Given the description of an element on the screen output the (x, y) to click on. 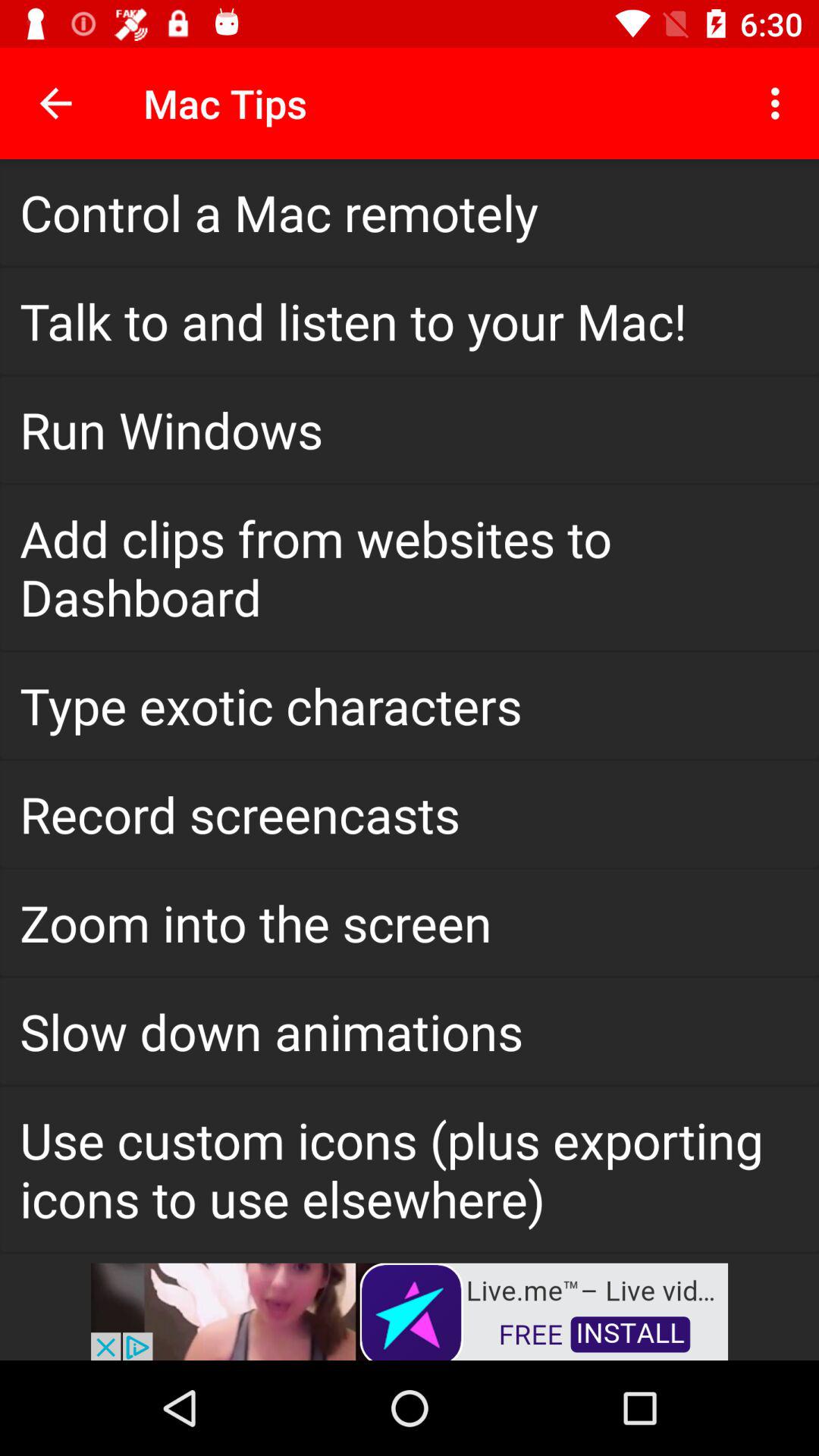
install app (409, 1310)
